Given the description of an element on the screen output the (x, y) to click on. 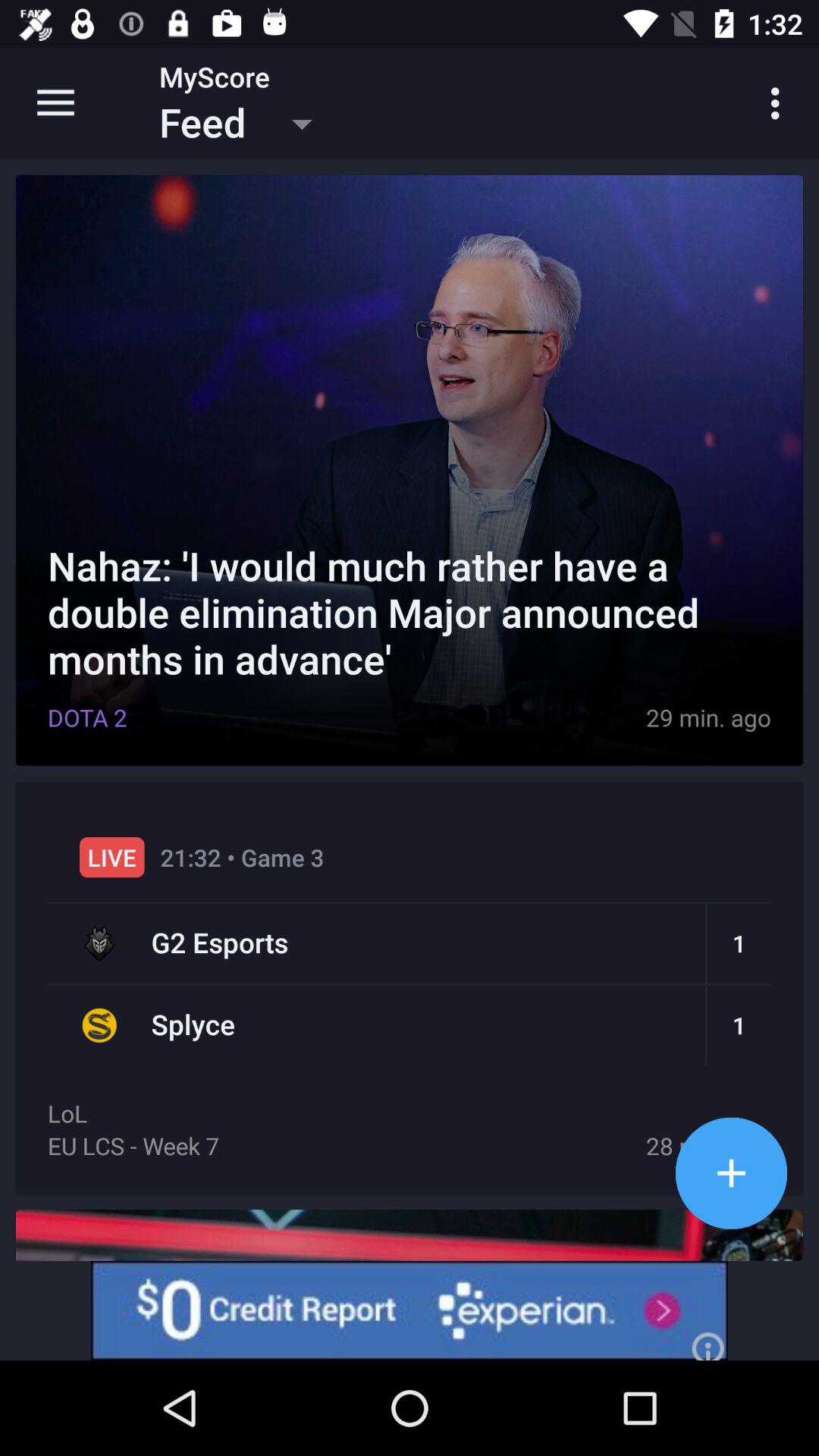
click to more details (731, 1173)
